Given the description of an element on the screen output the (x, y) to click on. 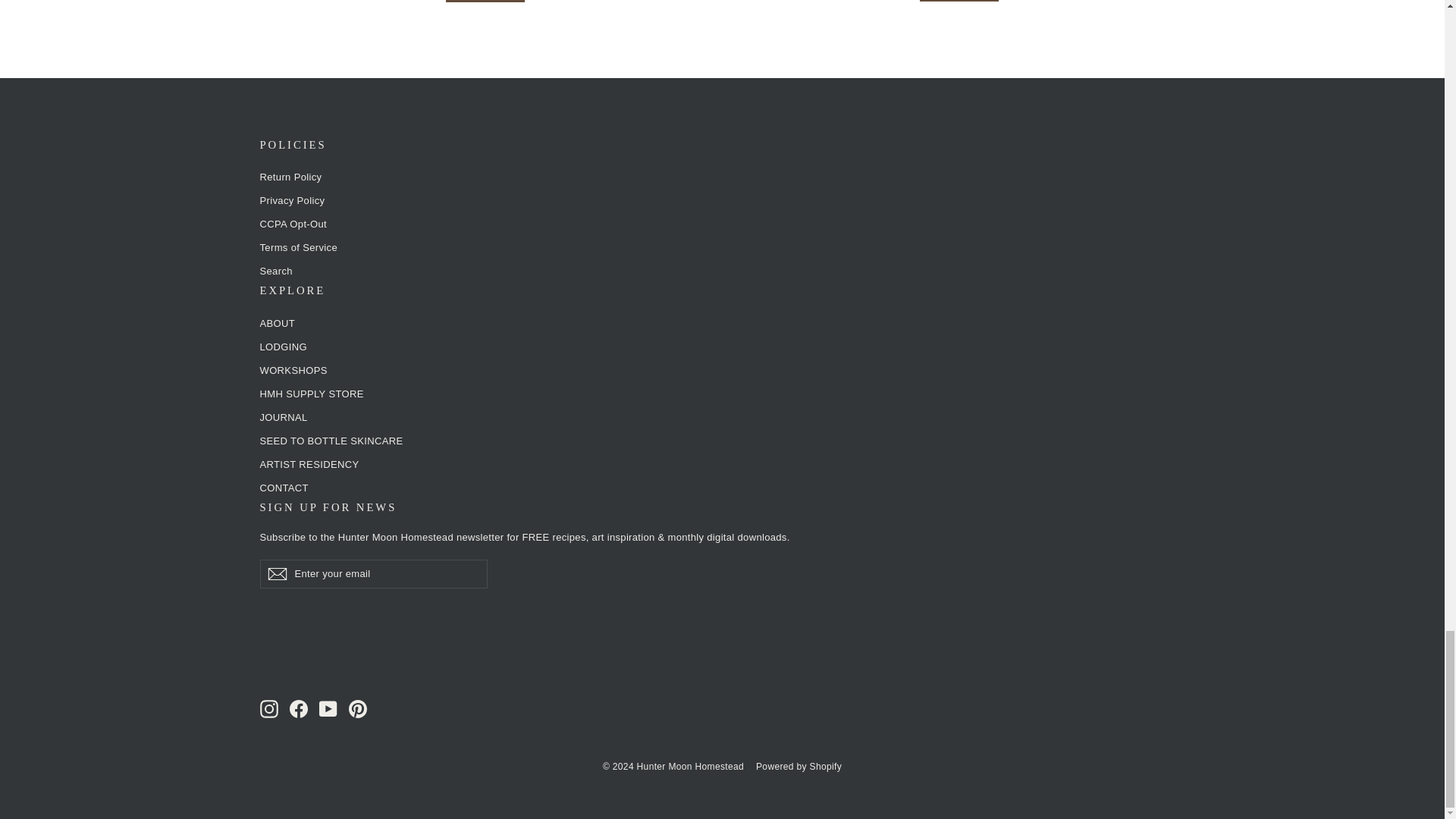
Hunter Moon Homestead on Facebook (298, 709)
icon-email (276, 574)
instagram (268, 709)
Hunter Moon Homestead on Pinterest (357, 709)
Hunter Moon Homestead on YouTube (327, 709)
Hunter Moon Homestead on Instagram (268, 709)
